Given the description of an element on the screen output the (x, y) to click on. 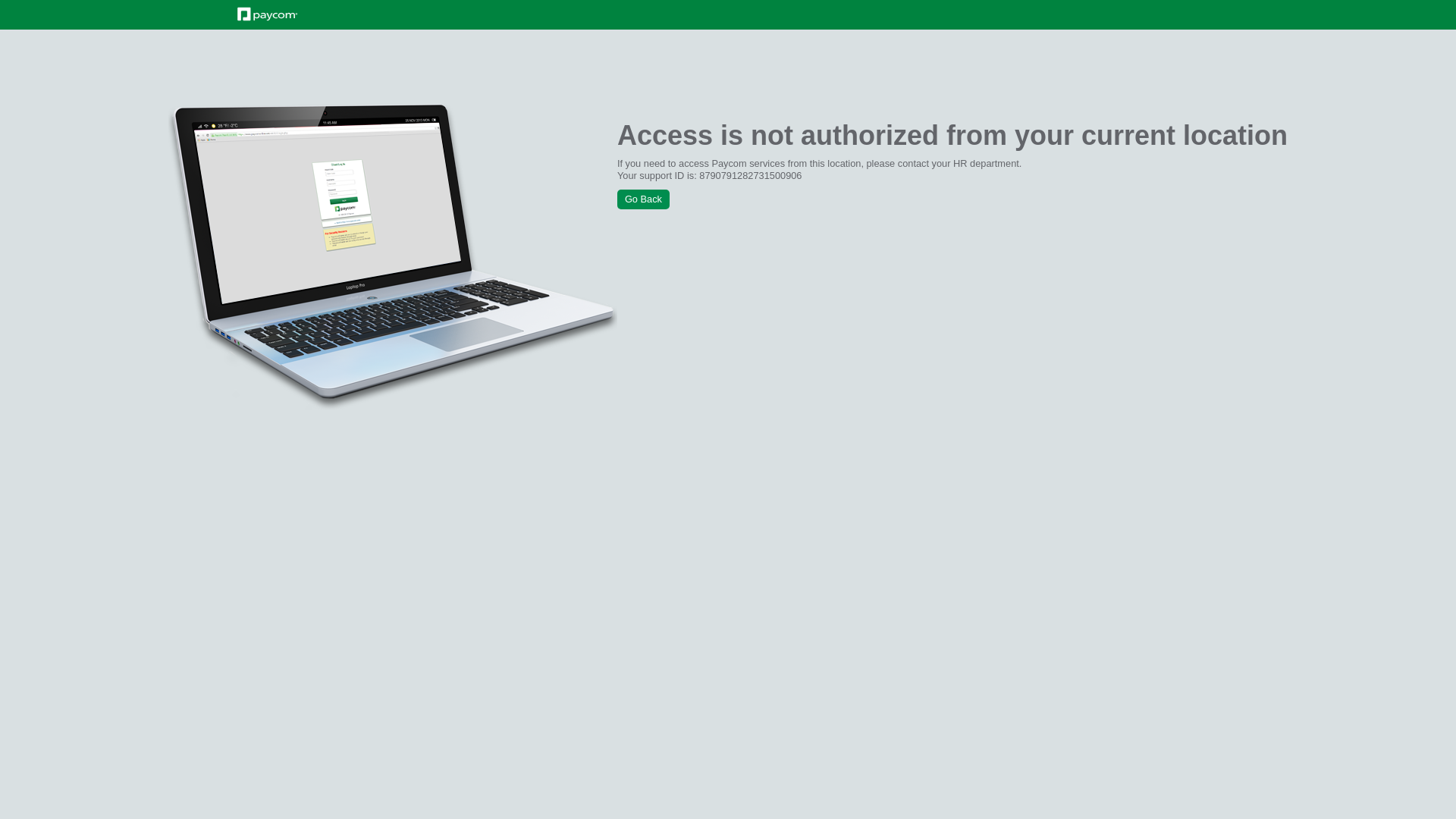
Go Back (643, 199)
